Given the description of an element on the screen output the (x, y) to click on. 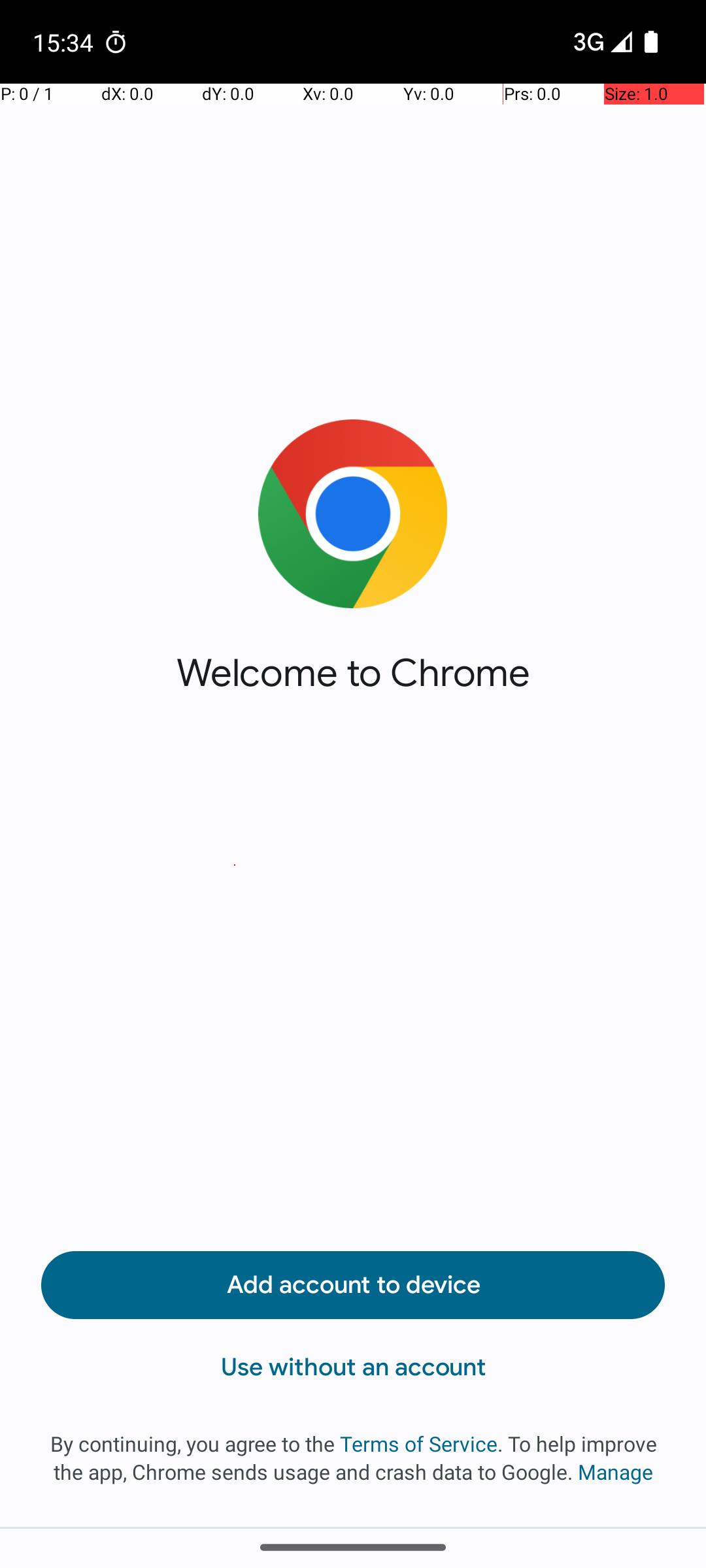
By continuing, you agree to the Terms of Service. To help improve the app, Chrome sends usage and crash data to Google. Manage Element type: android.widget.TextView (352, 1457)
Add account to device Element type: android.widget.Button (352, 1284)
Use without an account Element type: android.widget.Button (352, 1367)
